Given the description of an element on the screen output the (x, y) to click on. 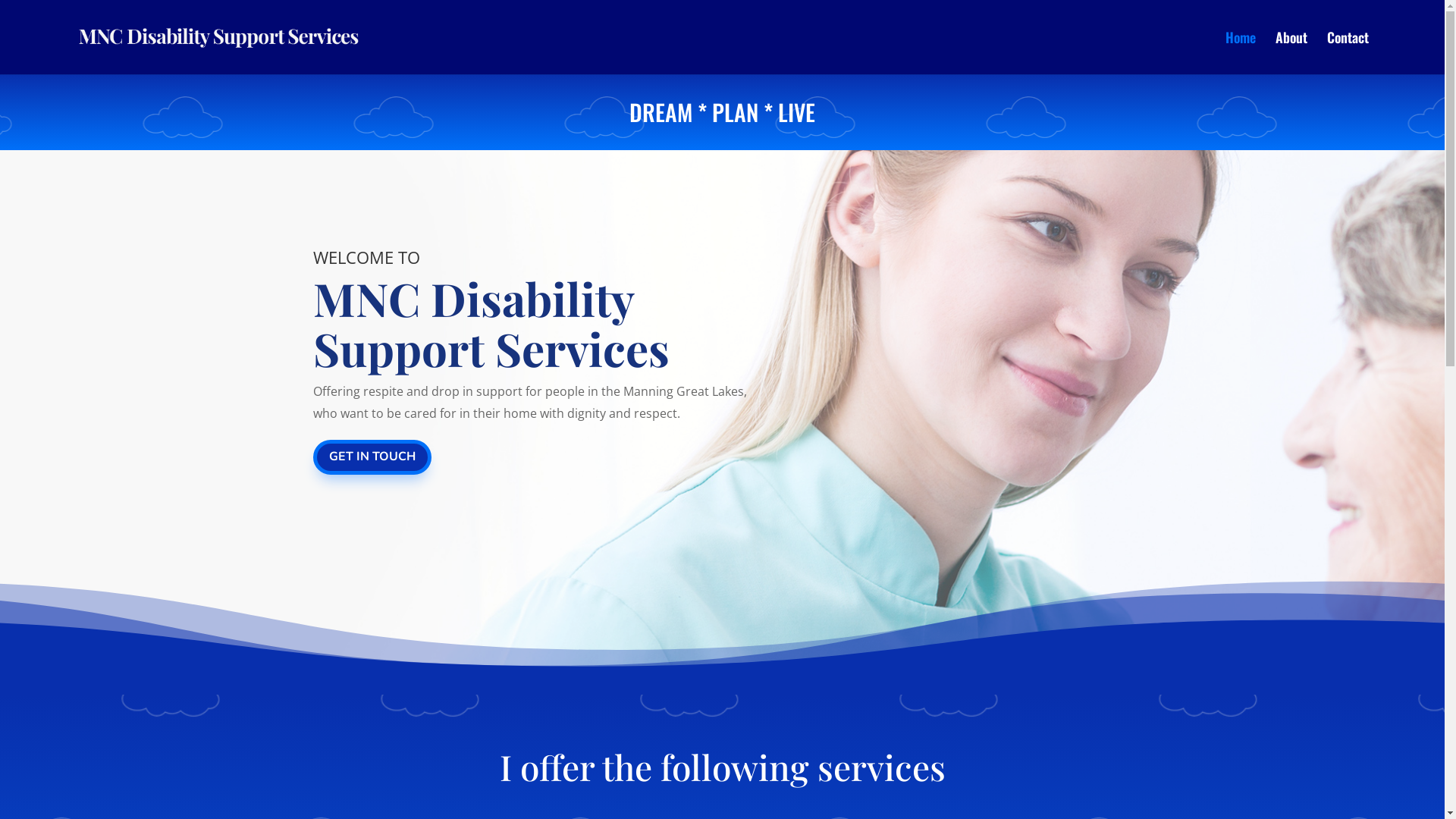
About Element type: text (1291, 52)
GET IN TOUCH Element type: text (371, 457)
Contact Element type: text (1347, 52)
Home Element type: text (1240, 52)
